Given the description of an element on the screen output the (x, y) to click on. 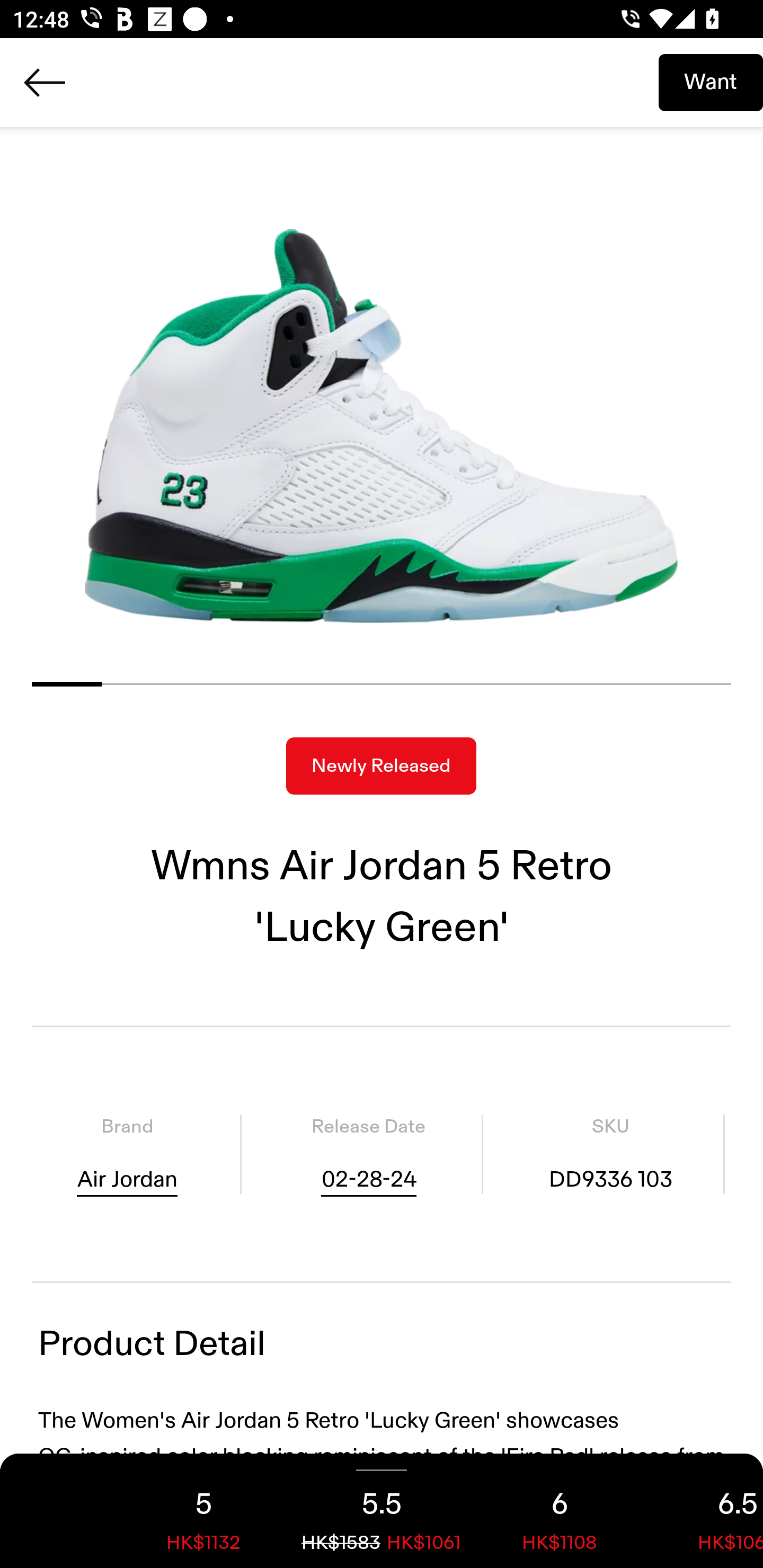
Want (710, 82)
Newly Released (381, 765)
Brand Air Jordan (126, 1153)
Release Date 02-28-24 (368, 1153)
SKU DD9336 103 (609, 1153)
5 HK$1132 (203, 1510)
5.5 HK$1583 HK$1061 (381, 1510)
6 HK$1108 (559, 1510)
6.5 HK$1068 (705, 1510)
